Given the description of an element on the screen output the (x, y) to click on. 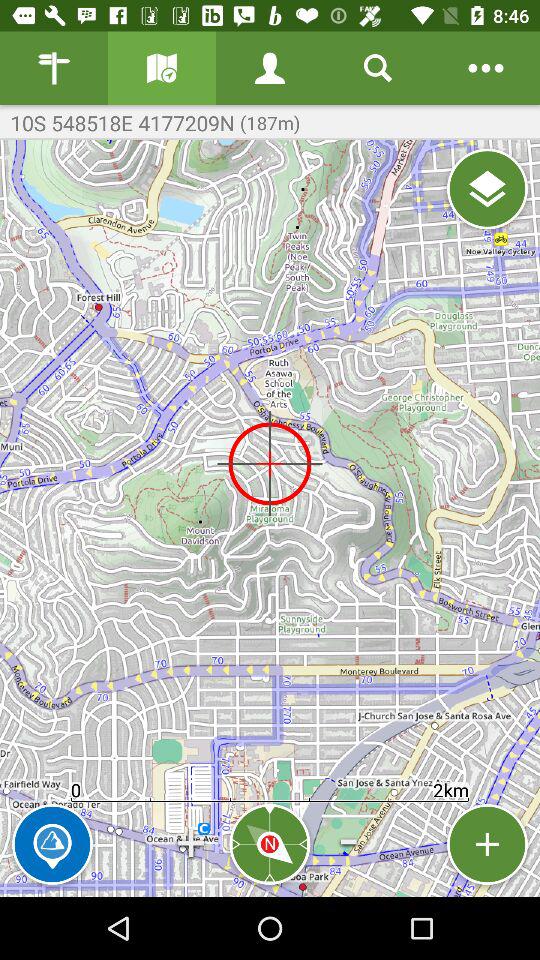
go the location (487, 188)
